Given the description of an element on the screen output the (x, y) to click on. 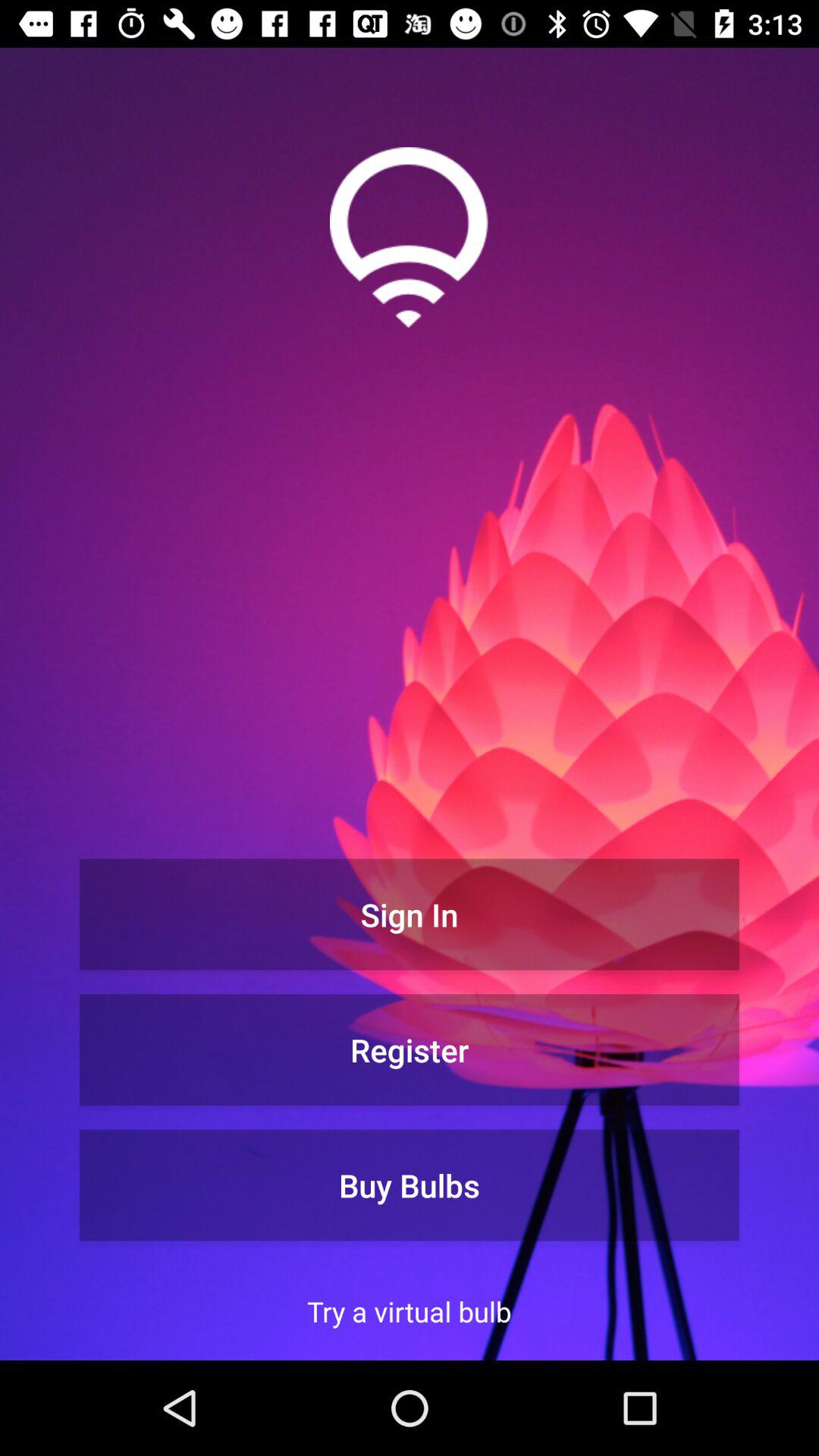
open the item below the buy bulbs item (409, 1311)
